Given the description of an element on the screen output the (x, y) to click on. 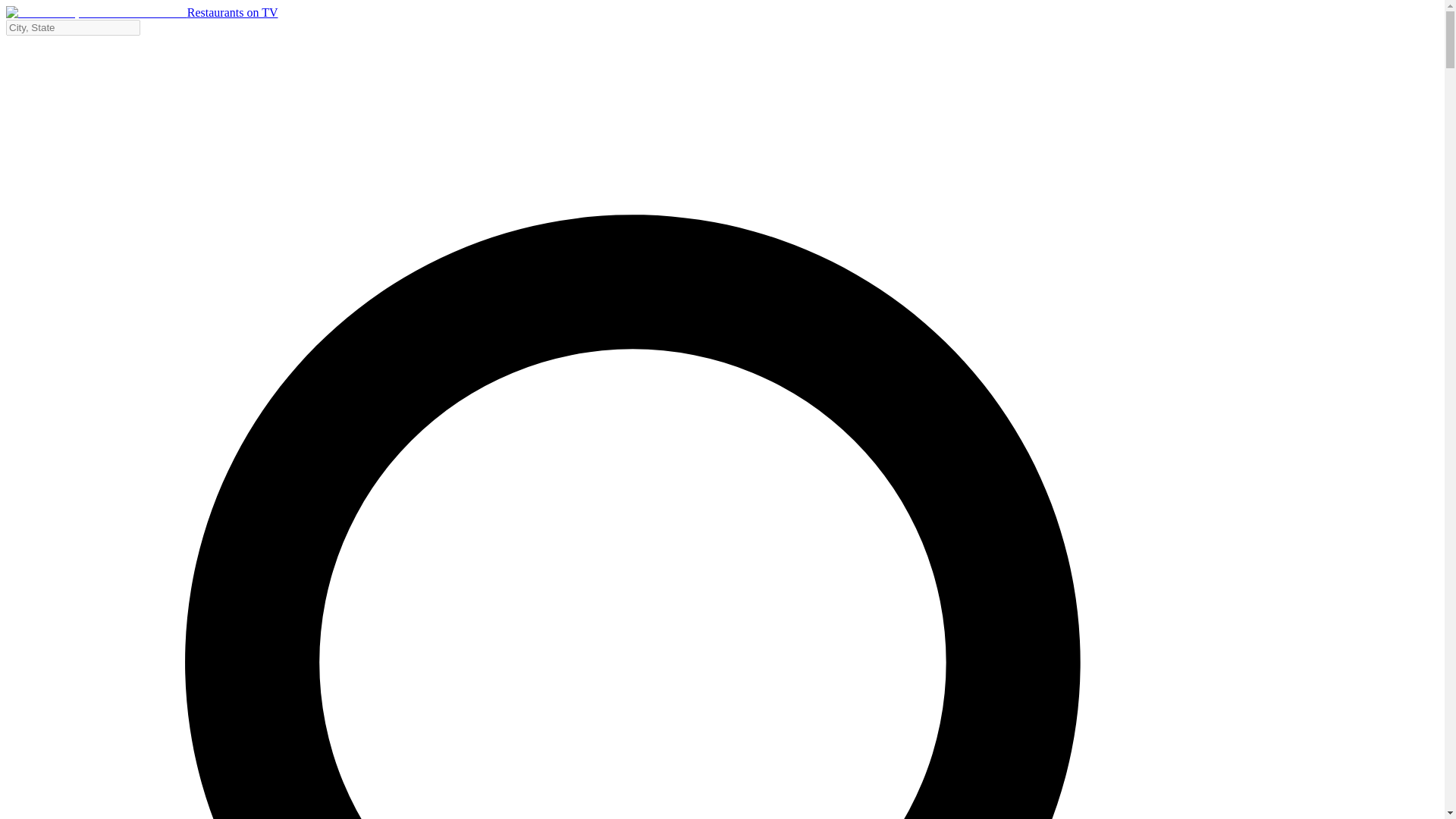
TVFoodMaps homepage (141, 11)
Restaurants on TV (141, 11)
